Given the description of an element on the screen output the (x, y) to click on. 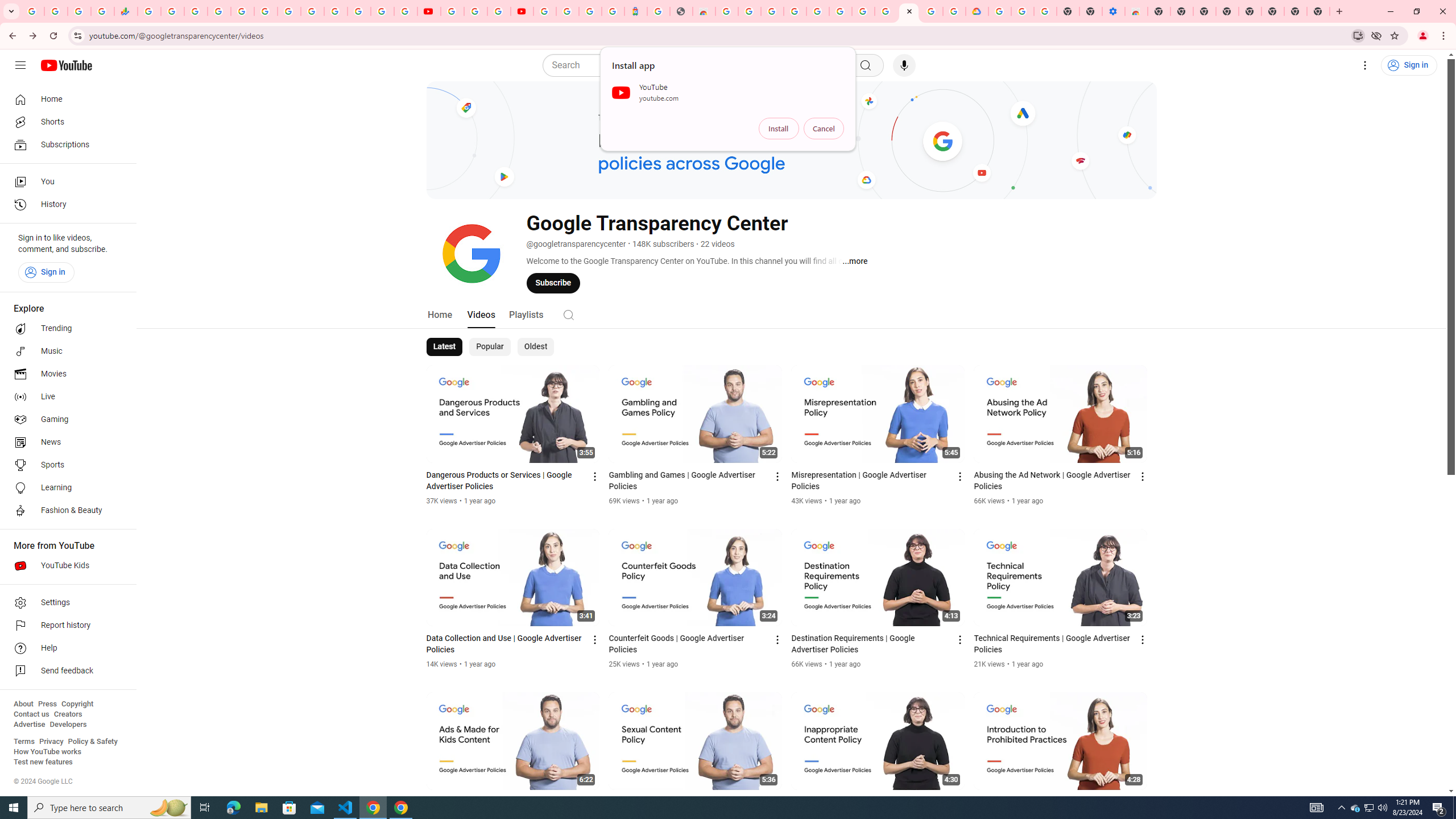
Action menu (1142, 802)
Sports (64, 464)
Privacy Checkup (405, 11)
Android TV Policies and Guidelines - Transparency Center (288, 11)
Atour Hotel - Google hotels (635, 11)
News (64, 441)
YouTube (451, 11)
Chrome Web Store - Accessibility extensions (1136, 11)
